Given the description of an element on the screen output the (x, y) to click on. 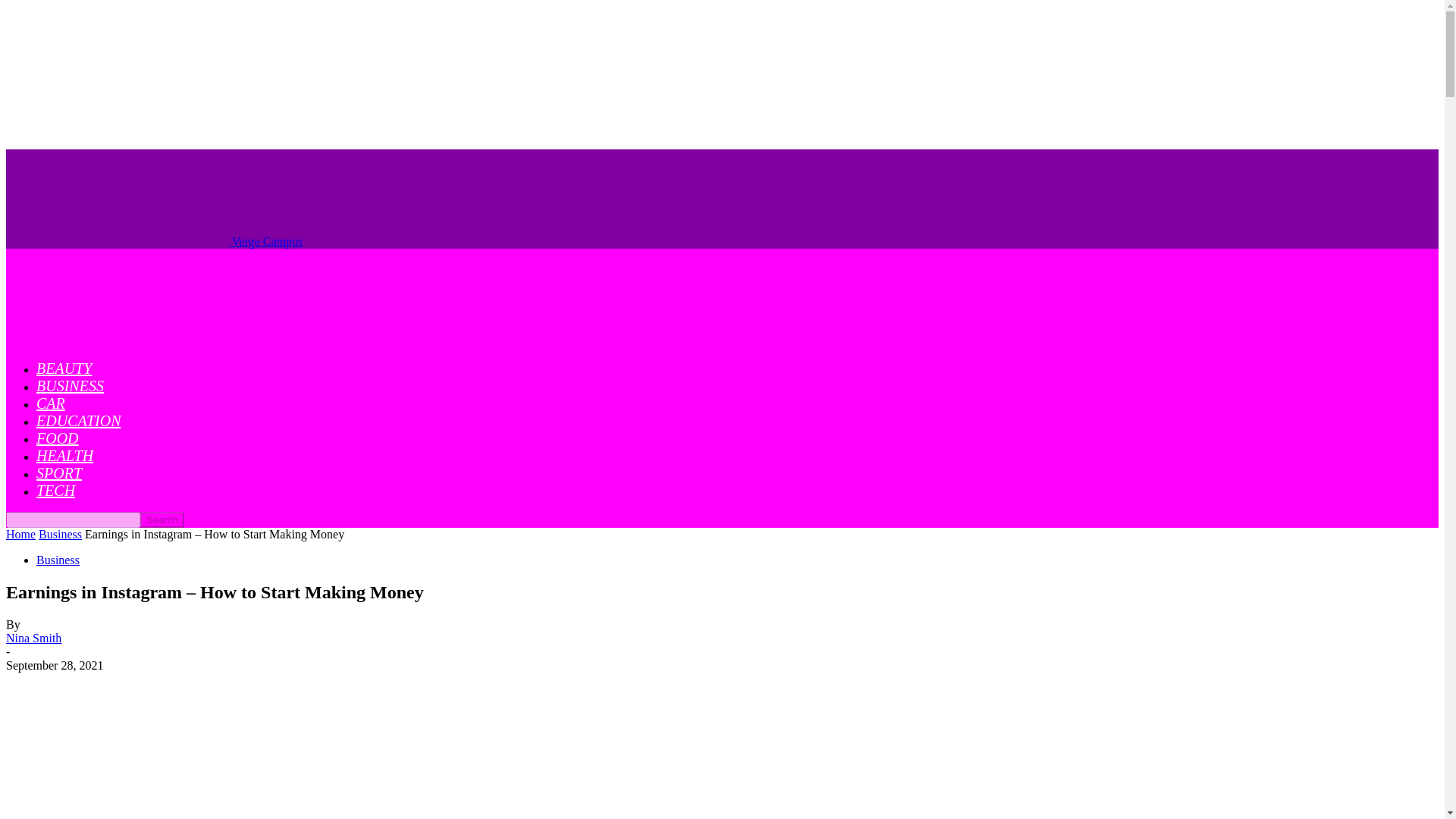
Verge Campus (153, 241)
HEALTH (64, 455)
Nina Smith (33, 637)
instagram (269, 745)
View all posts in Business (60, 533)
EDUCATION (78, 420)
Search (161, 519)
Business (58, 559)
SPORT (58, 473)
BUSINESS (69, 385)
